Given the description of an element on the screen output the (x, y) to click on. 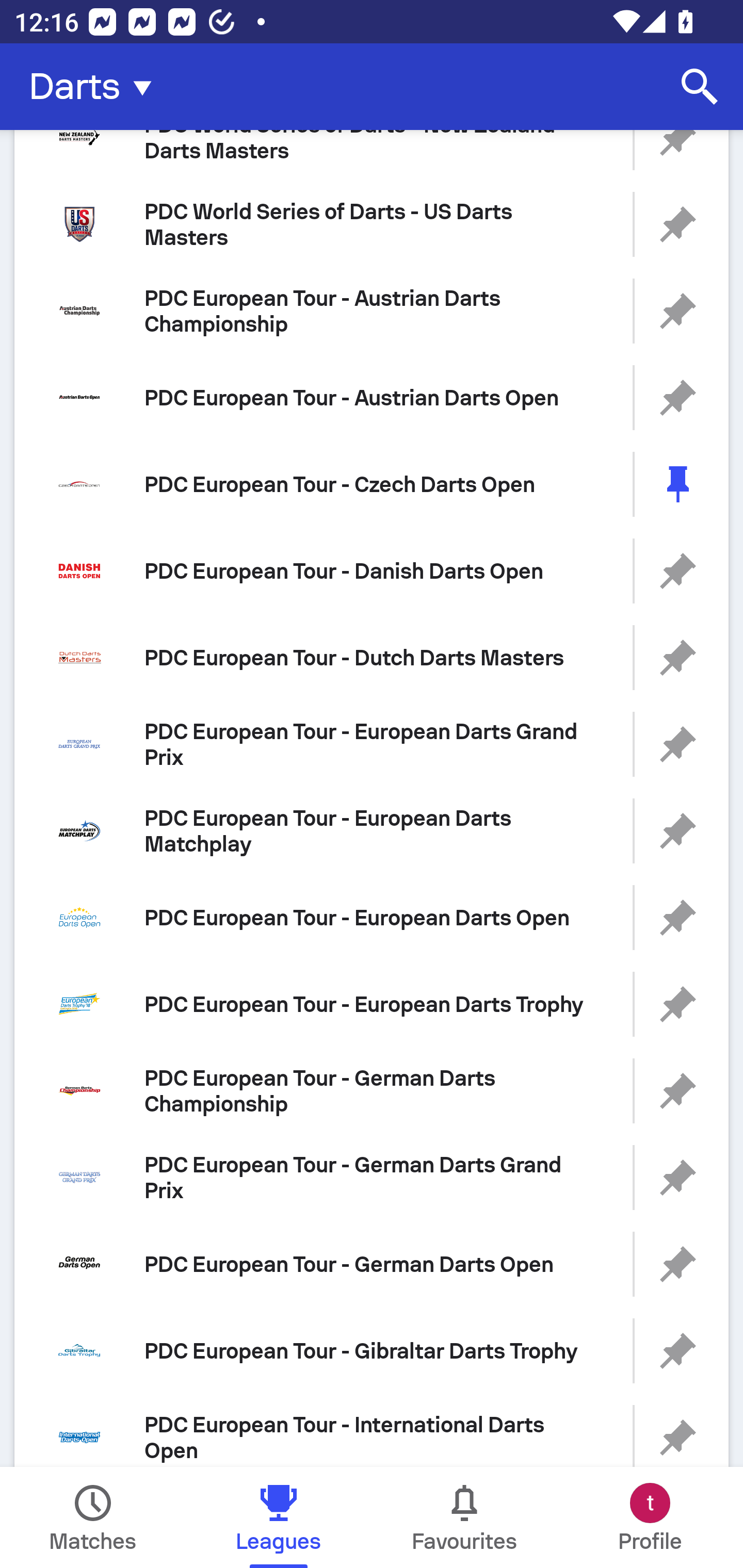
Darts (96, 86)
Search (699, 86)
PDC World Series of Darts - US Darts Masters (371, 224)
PDC European Tour - Austrian Darts Championship (371, 311)
PDC European Tour - Austrian Darts Open (371, 397)
PDC European Tour - Czech Darts Open (371, 484)
PDC European Tour - Danish Darts Open (371, 571)
PDC European Tour - Dutch Darts Masters (371, 657)
PDC European Tour - European Darts Grand Prix (371, 743)
PDC European Tour - European Darts Matchplay (371, 830)
PDC European Tour - European Darts Open (371, 917)
PDC European Tour - European Darts Trophy (371, 1004)
PDC European Tour - German Darts Championship (371, 1090)
PDC European Tour - German Darts Grand Prix (371, 1177)
PDC European Tour - German Darts Open (371, 1264)
PDC European Tour - Gibraltar Darts Trophy (371, 1350)
PDC European Tour - International Darts Open (371, 1430)
Matches (92, 1517)
Favourites (464, 1517)
Profile (650, 1517)
